Given the description of an element on the screen output the (x, y) to click on. 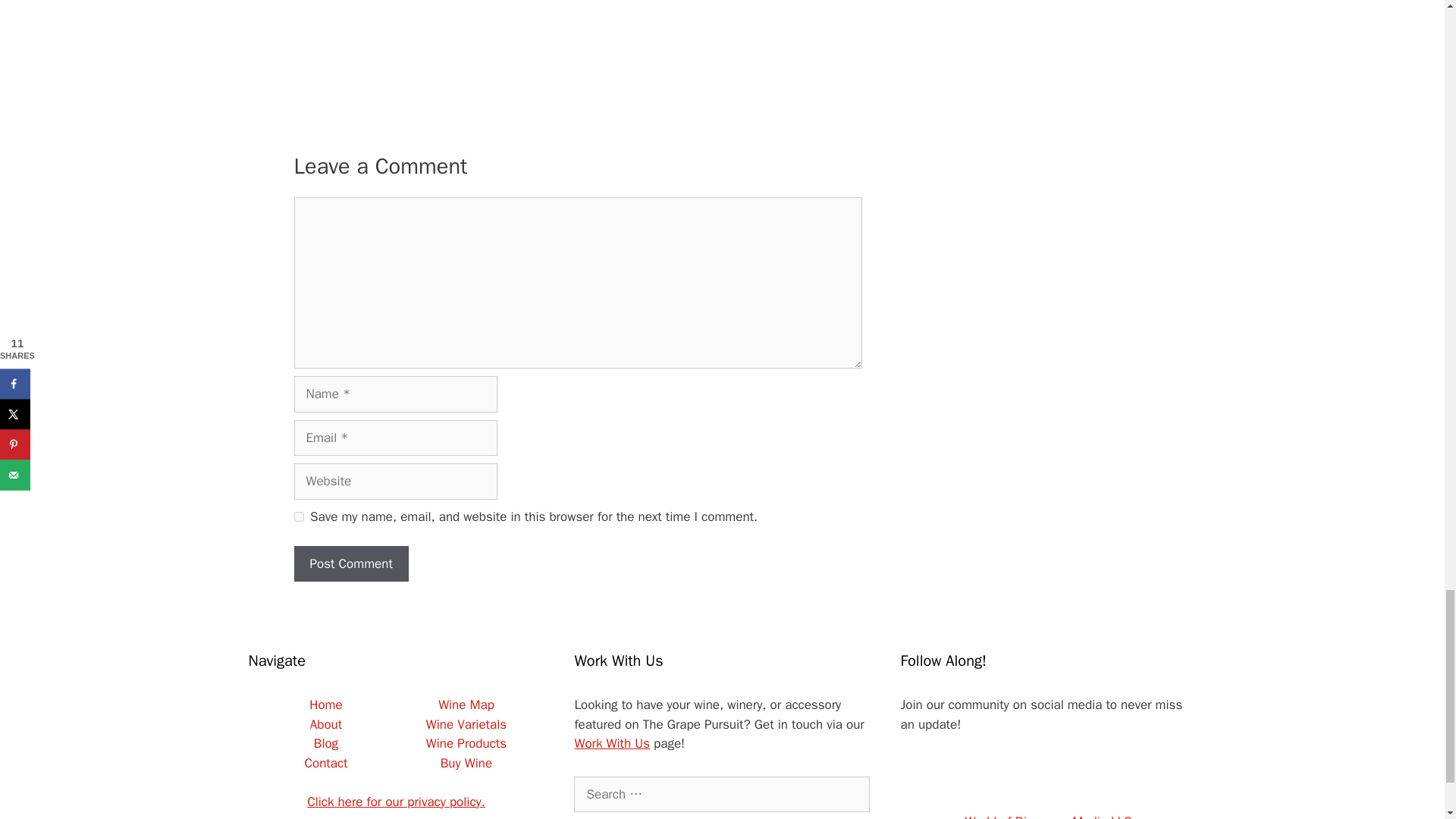
Post Comment (351, 564)
Facebook (974, 776)
Coravin (766, 28)
Search for: (721, 794)
yes (299, 516)
Wine Glasses (388, 28)
Decanter (577, 28)
